Given the description of an element on the screen output the (x, y) to click on. 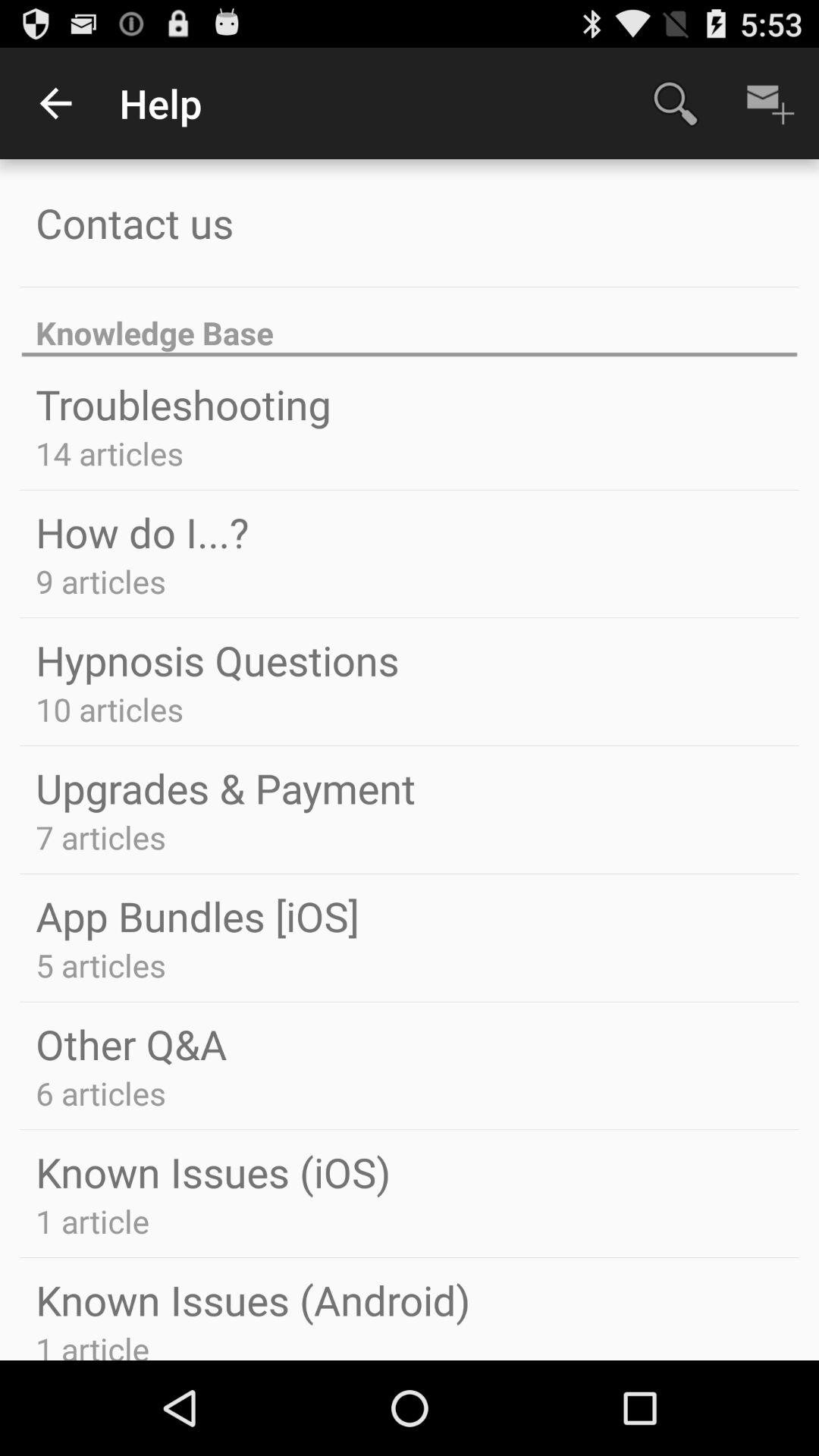
jump until the other q&a icon (130, 1043)
